Given the description of an element on the screen output the (x, y) to click on. 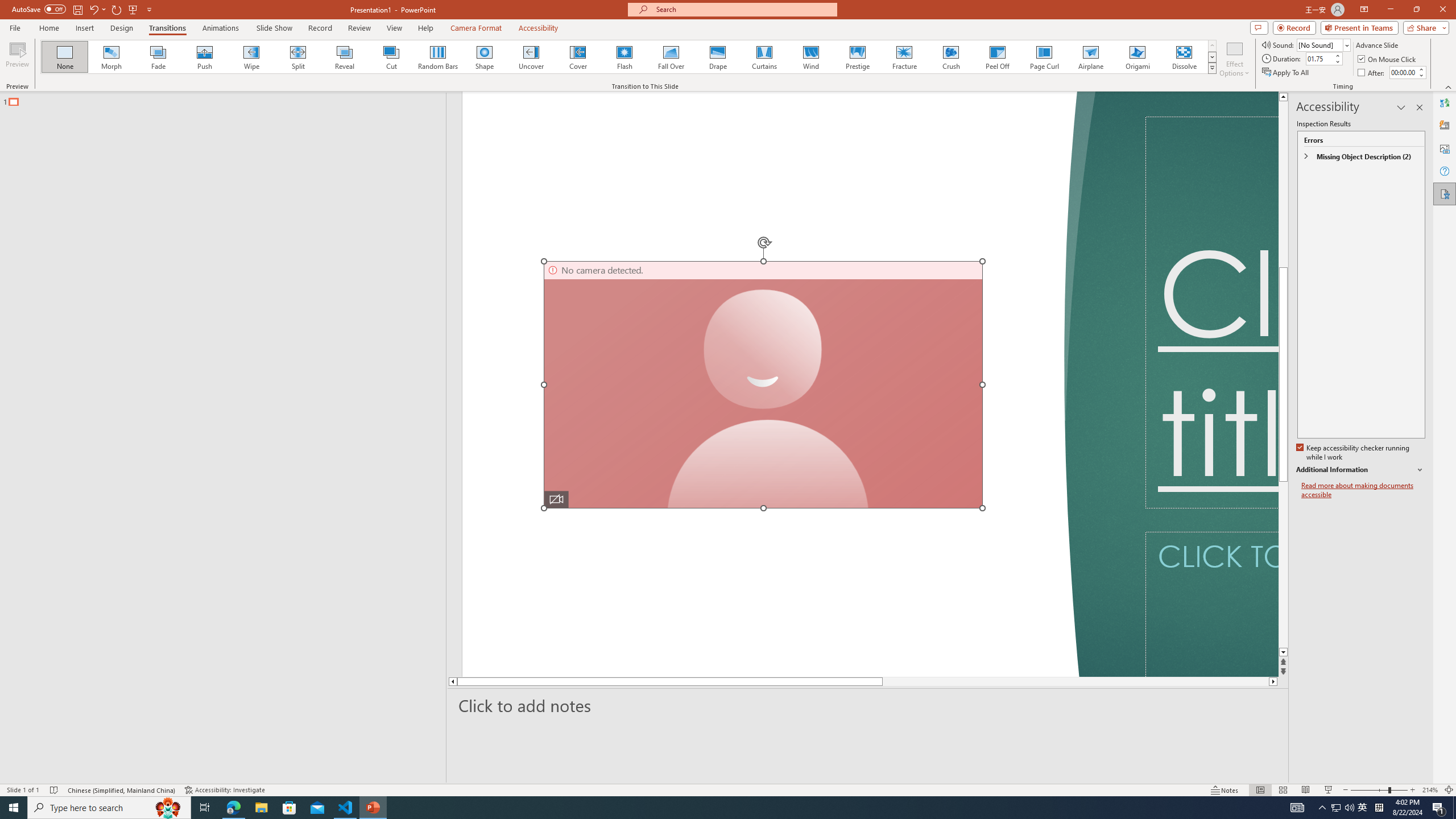
Transition Effects (1212, 67)
Wind (810, 56)
More (1420, 69)
Wipe (251, 56)
Cut (391, 56)
